Given the description of an element on the screen output the (x, y) to click on. 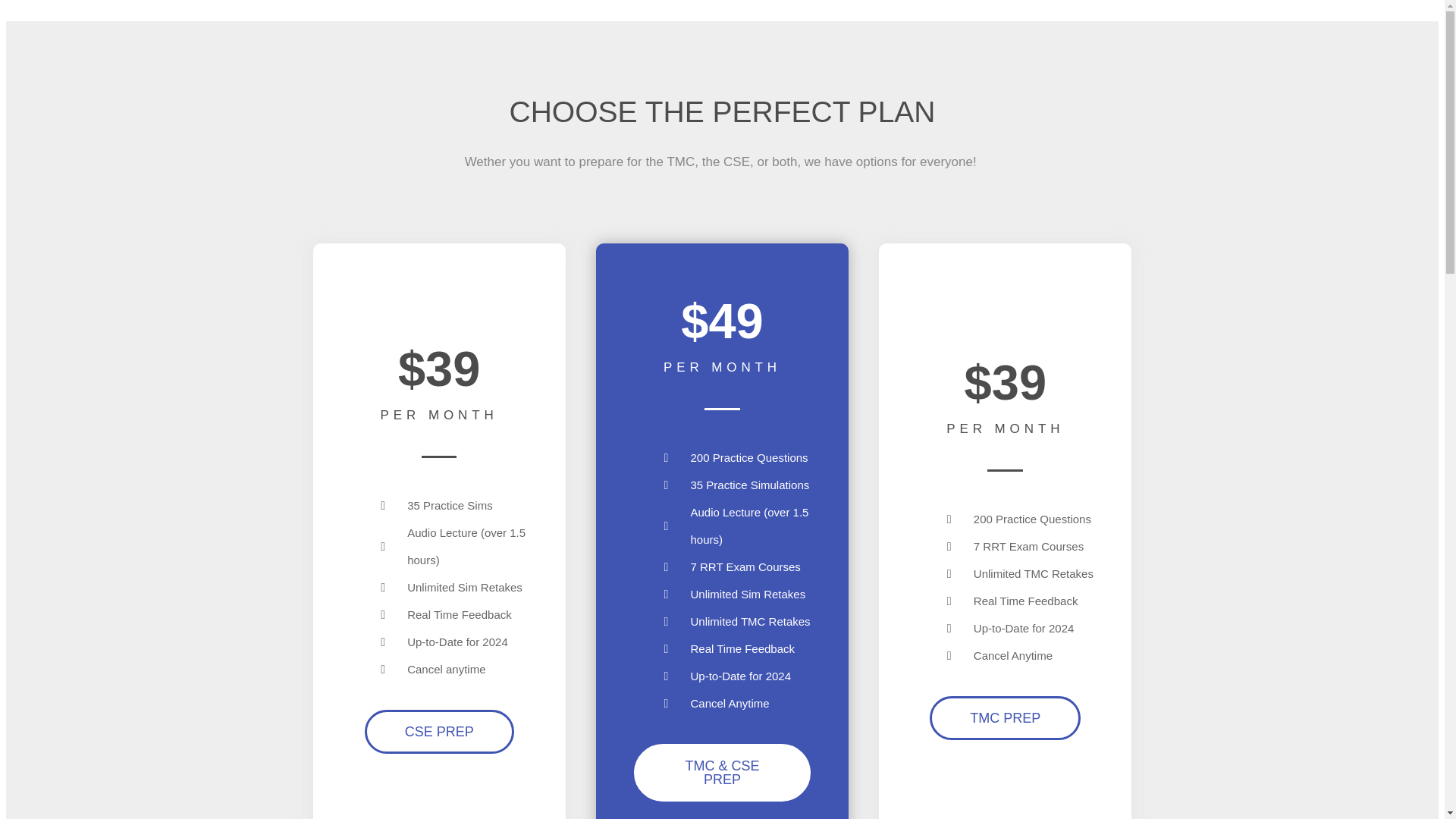
TMC PREP (1005, 718)
CSE PREP (439, 731)
